Given the description of an element on the screen output the (x, y) to click on. 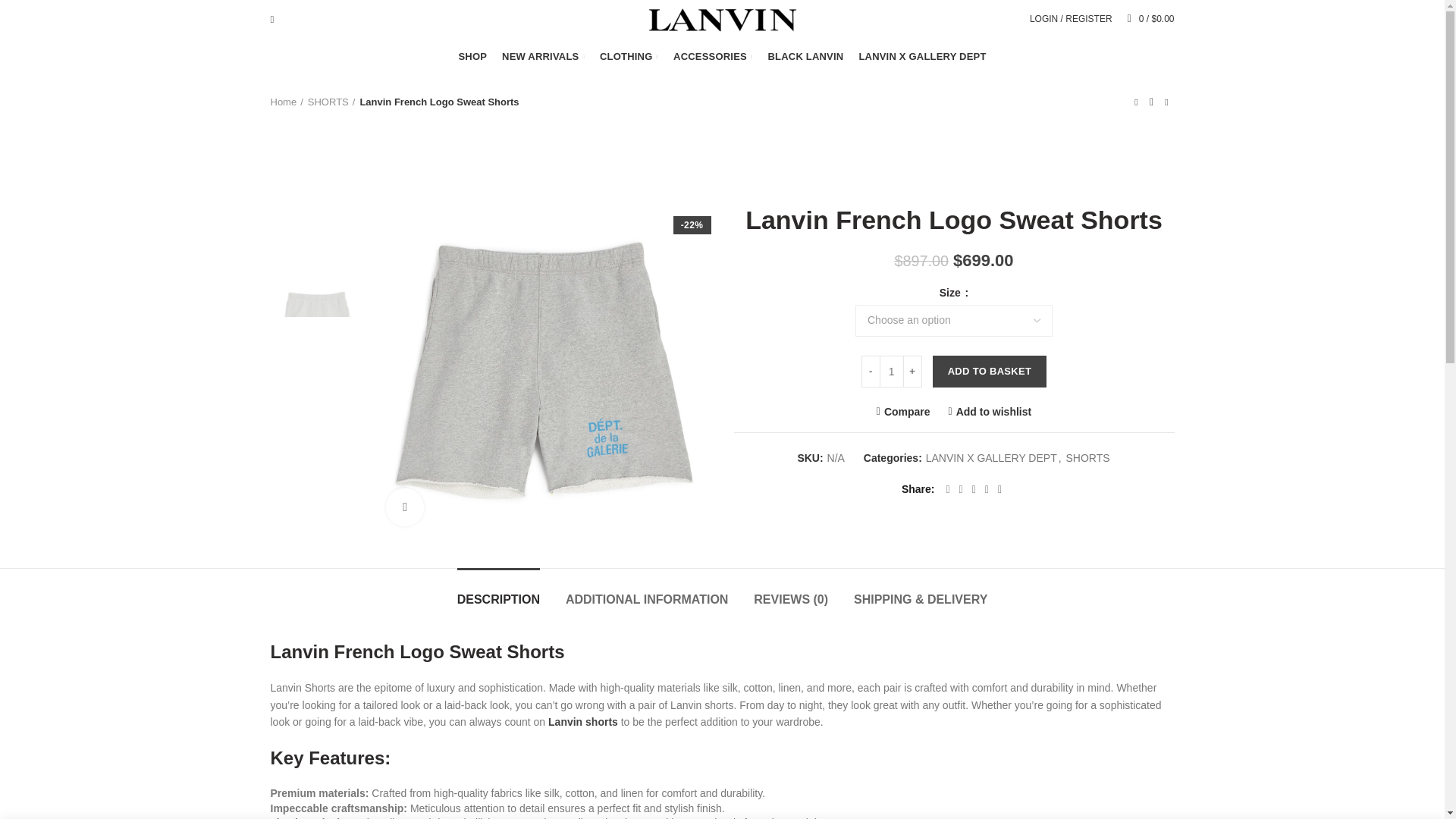
LANVIN X GALLERY DEPT (921, 56)
My account (1070, 18)
FRENCH LOGO SWEAT SHORTS (542, 370)
FRENCH LOGO SWEAT SHORTS (316, 327)
ACCESSORIES (712, 56)
Previous product (1135, 102)
BLACK LANVIN (805, 56)
CLOTHING (628, 56)
SHOP (472, 56)
